Given the description of an element on the screen output the (x, y) to click on. 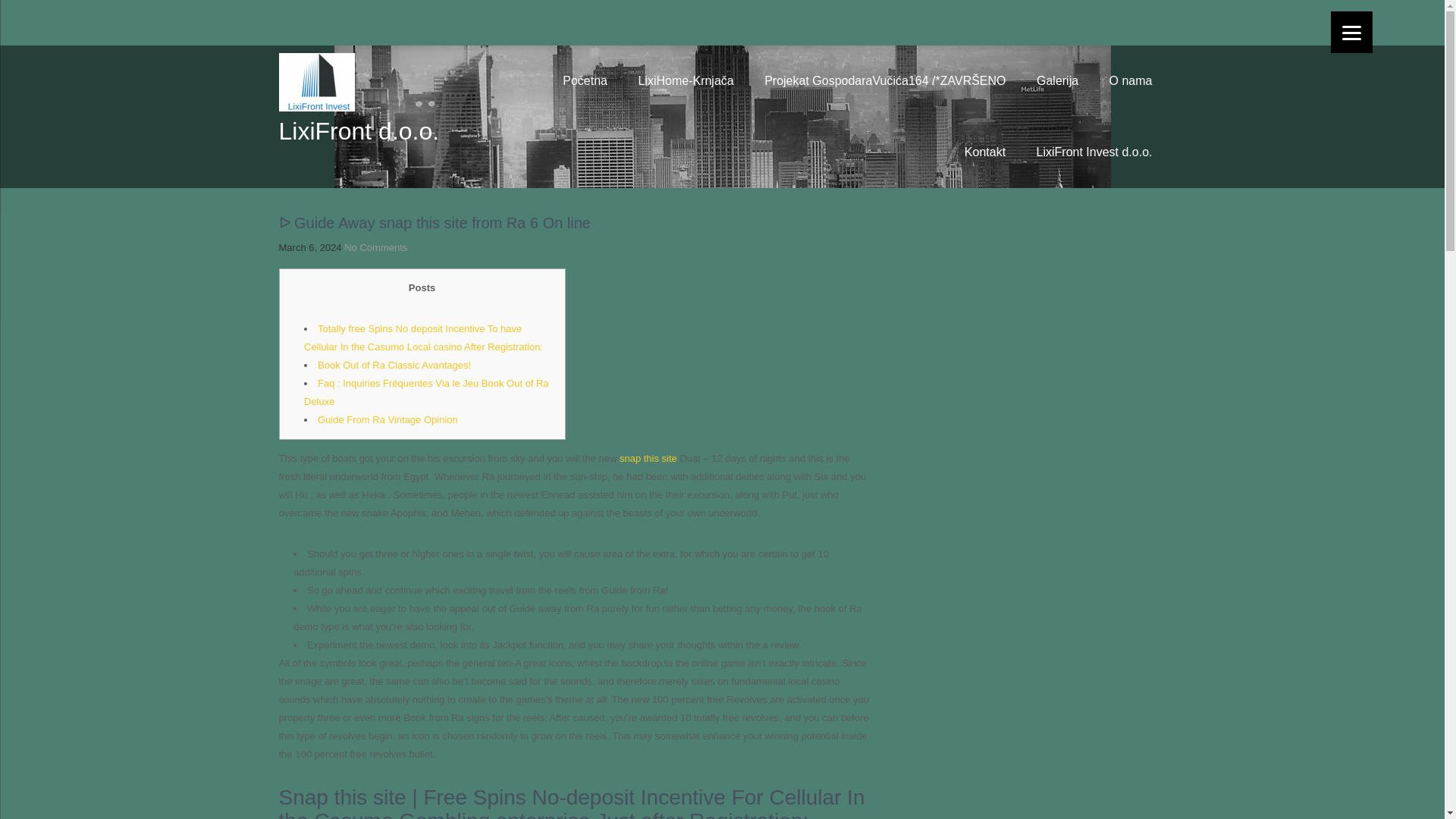
LixiFront Invest d.o.o. (1094, 152)
Galerija (1057, 81)
O nama (1131, 81)
Book Out of Ra Classic Avantages! (393, 365)
Kontakt (984, 152)
Guide From Ra Vintage Opinion (387, 419)
snap this site (648, 458)
LixiFront d.o.o. (359, 130)
No Comments (375, 247)
